Given the description of an element on the screen output the (x, y) to click on. 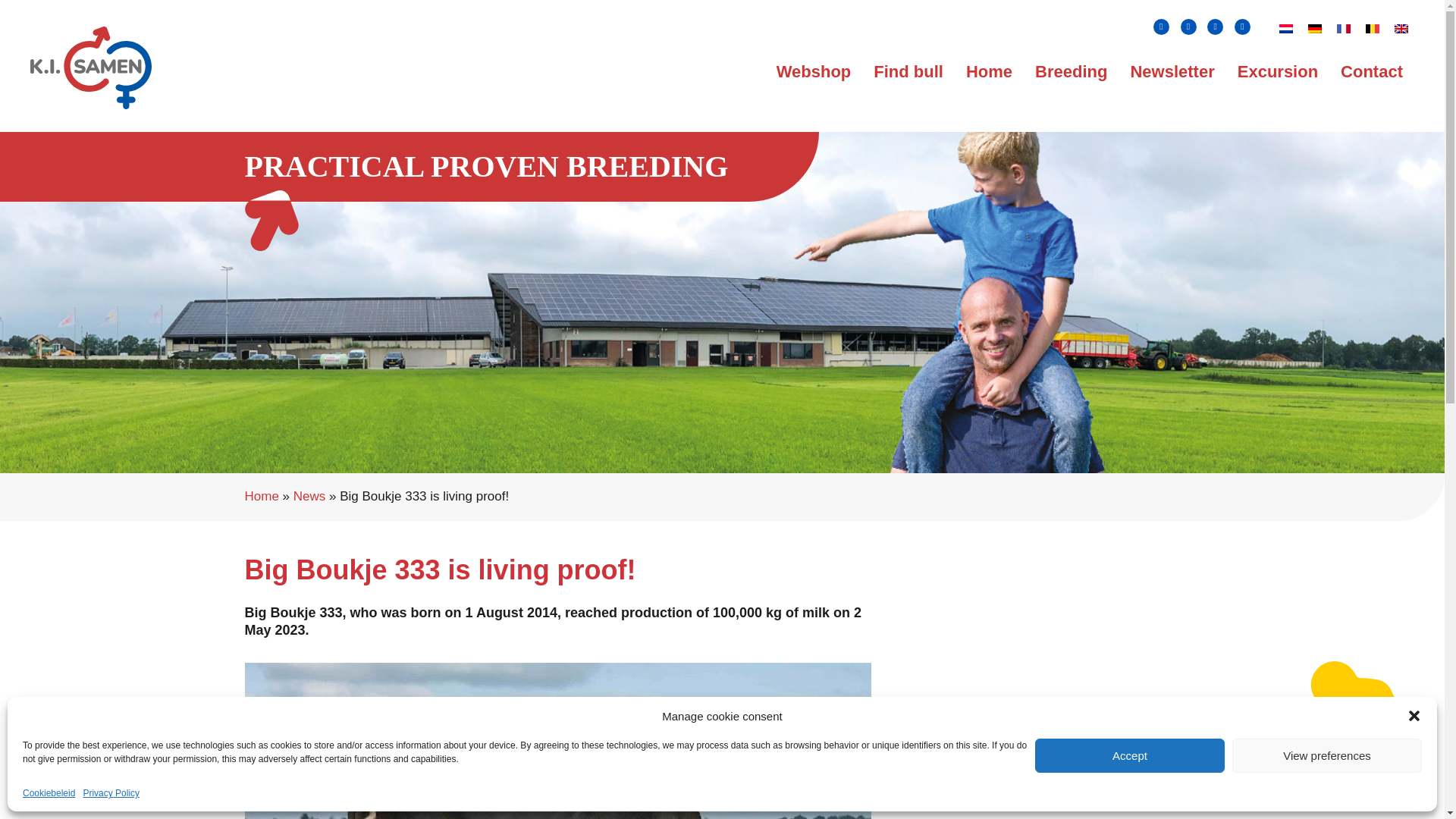
Contact (1371, 71)
Privacy Policy (110, 793)
Home (989, 71)
Big Boukje 333 (557, 740)
Find bull (908, 71)
Breeding (1071, 71)
Cookiebeleid (49, 793)
View preferences (1326, 755)
Webshop (813, 71)
Newsletter (1171, 71)
Accept (1129, 755)
Excursion (1277, 71)
Logo (90, 67)
